Given the description of an element on the screen output the (x, y) to click on. 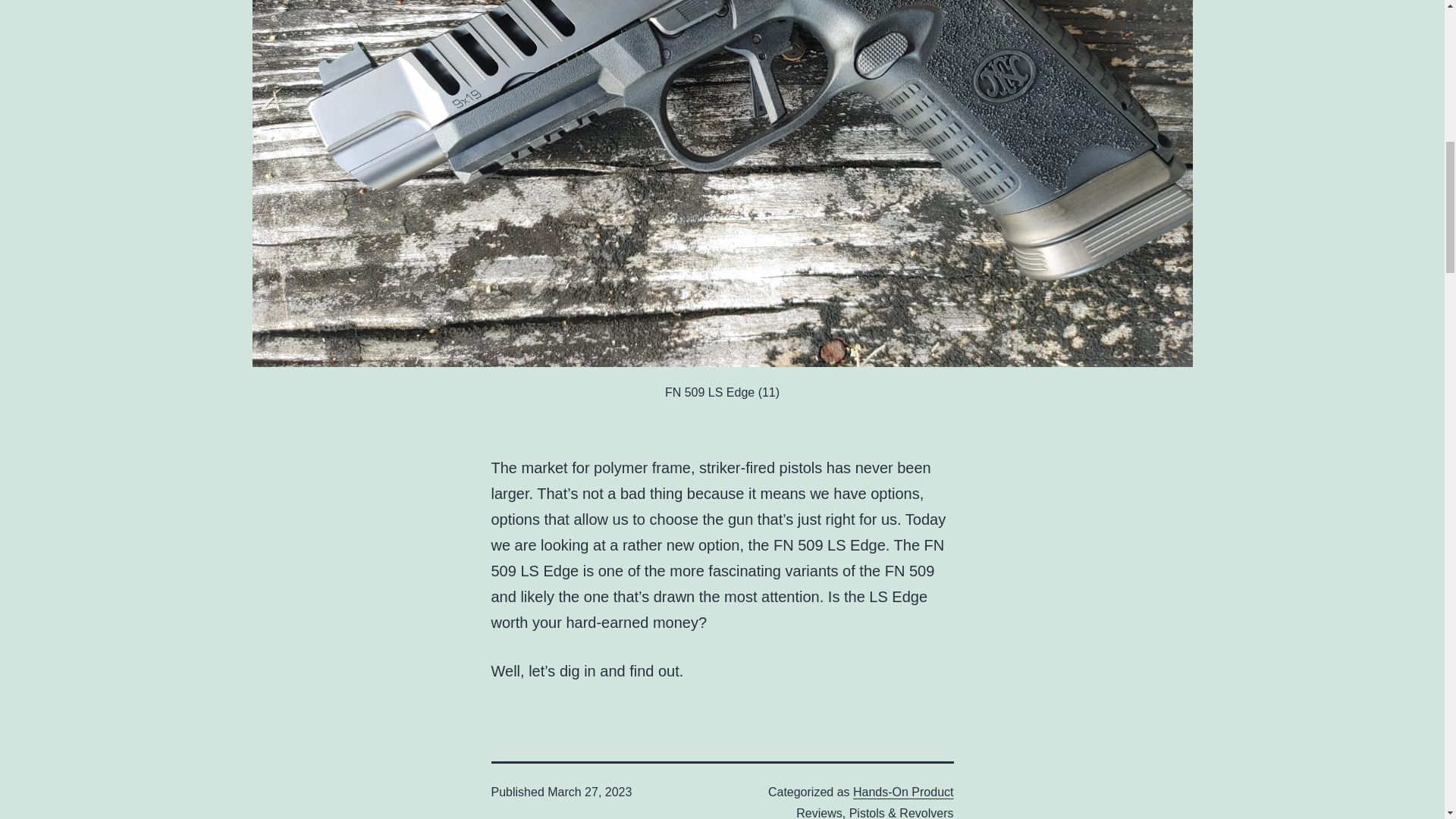
Hands-On Product Reviews (874, 802)
